Given the description of an element on the screen output the (x, y) to click on. 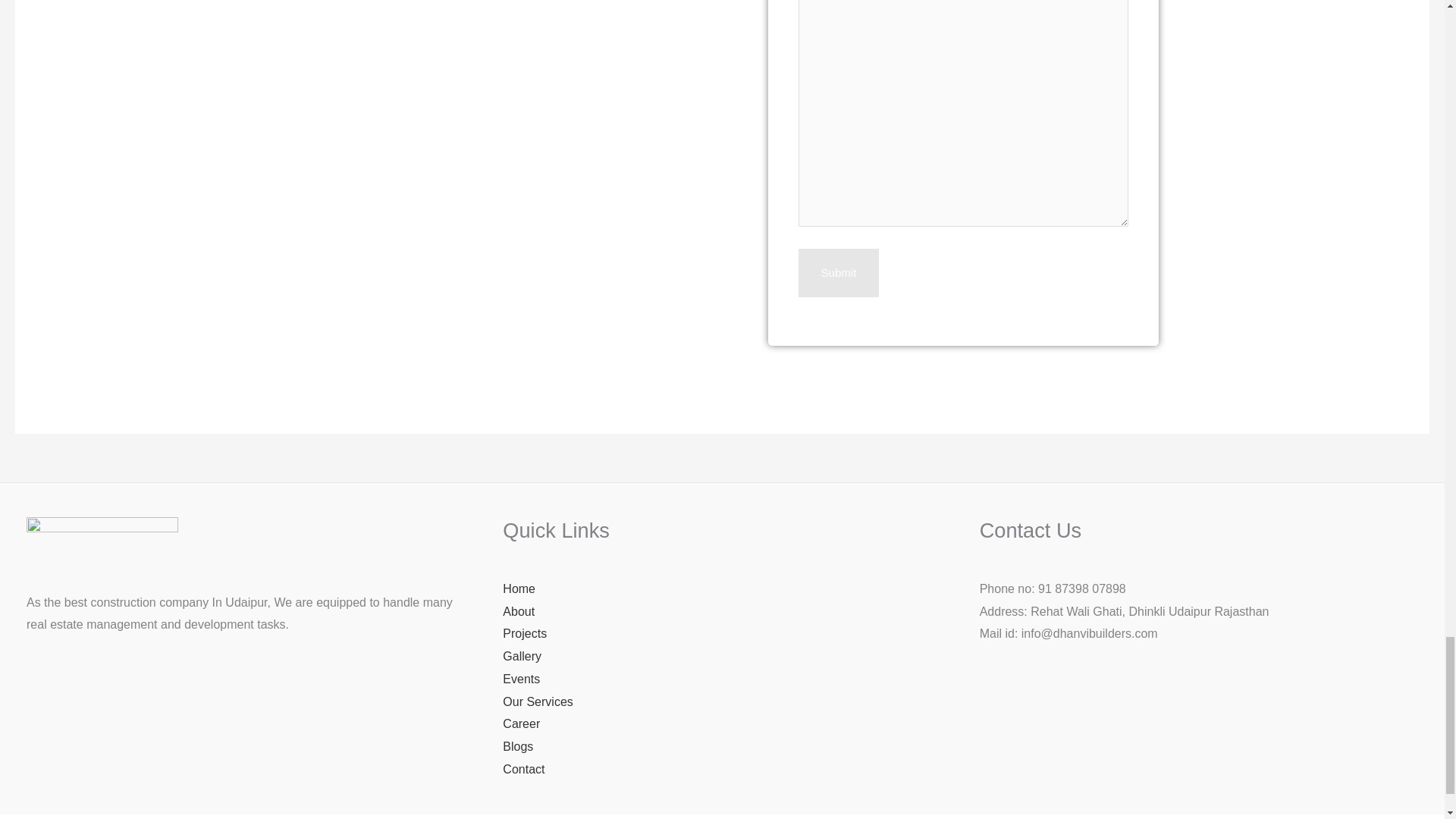
Submit (838, 272)
